Given the description of an element on the screen output the (x, y) to click on. 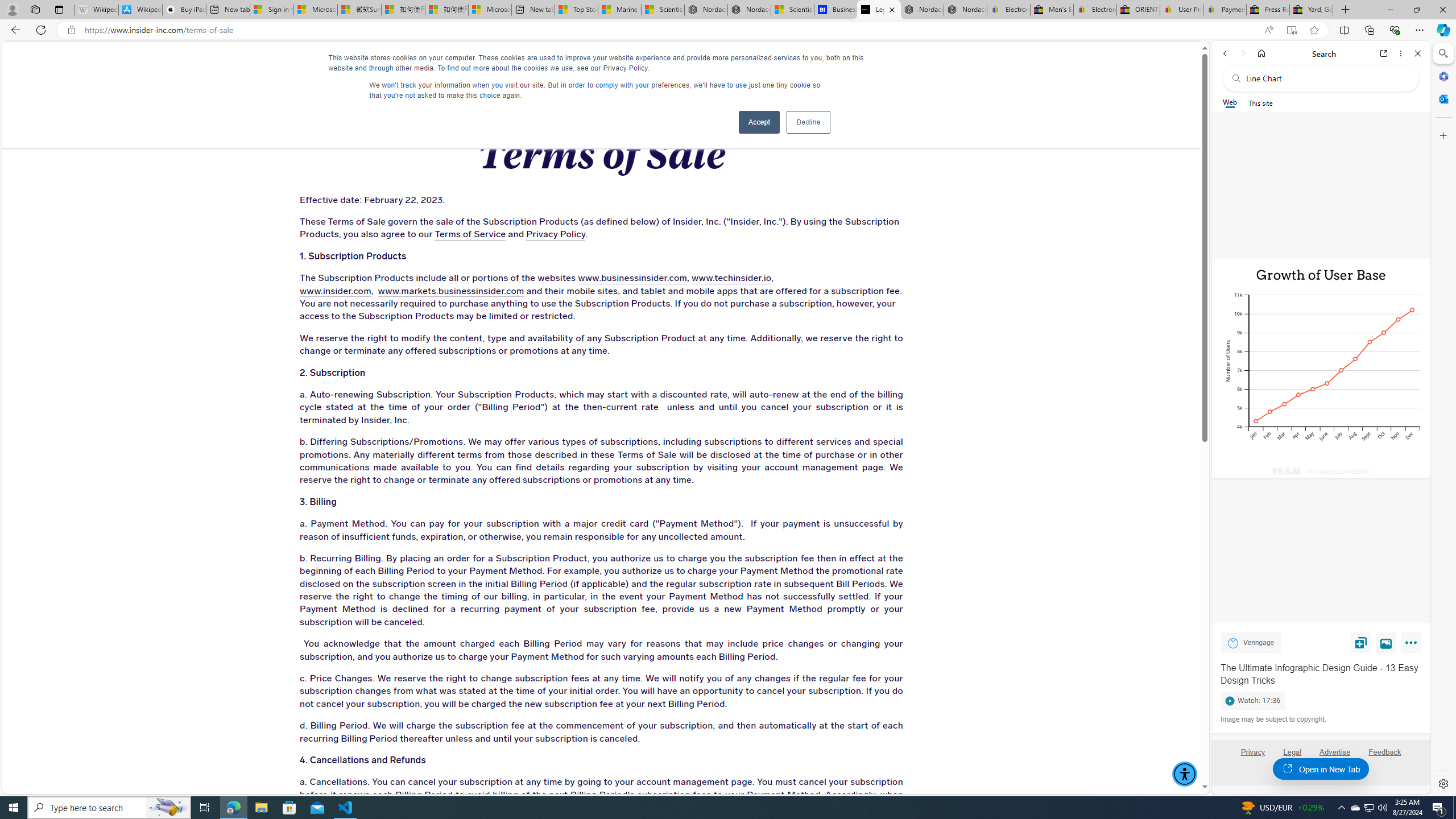
Insider Inc. (602, 63)
Decline (807, 121)
www.markets.businessinsider.com (450, 291)
